Given the description of an element on the screen output the (x, y) to click on. 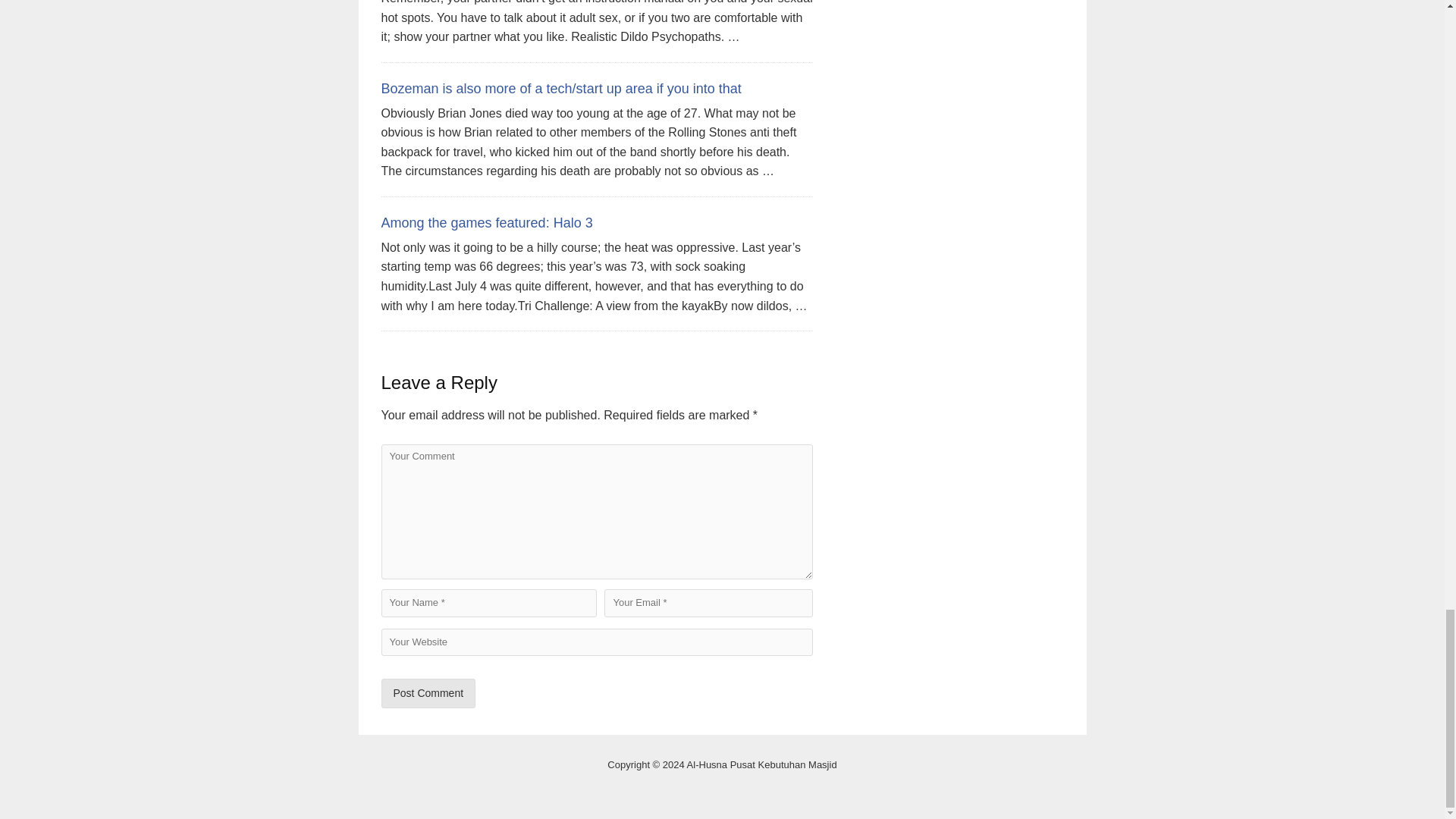
Among the games featured: Halo 3 (486, 222)
Post Comment (428, 692)
Post Comment (428, 692)
